Given the description of an element on the screen output the (x, y) to click on. 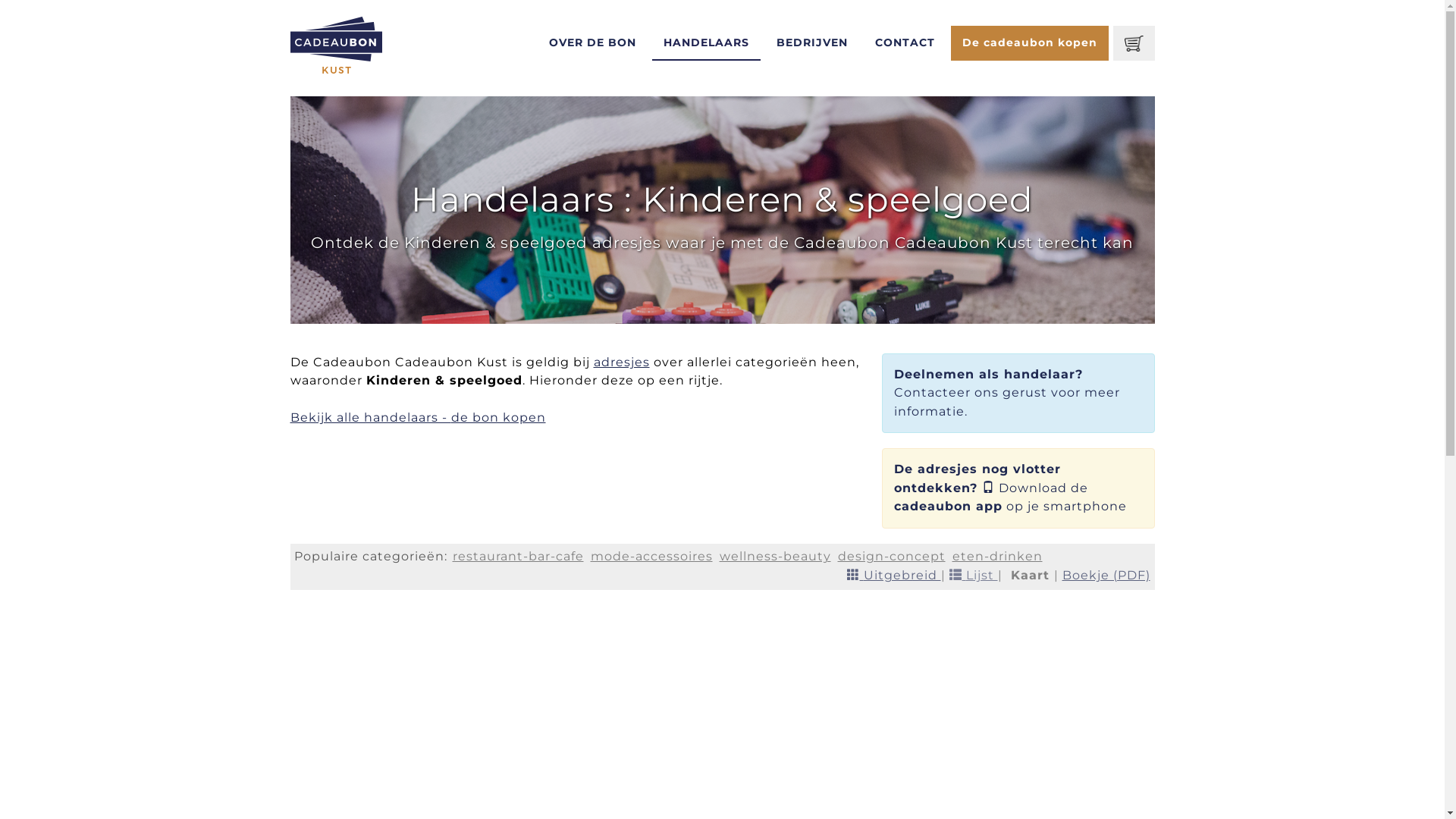
OVER DE BON Element type: text (592, 42)
adresjes Element type: text (621, 361)
BEDRIJVEN Element type: text (812, 42)
Uitgebreid Element type: text (893, 574)
eten-drinken Element type: text (997, 555)
CONTACT Element type: text (904, 42)
HANDELAARS Element type: text (706, 42)
De cadeaubon kopen Element type: text (1029, 42)
de bon kopen Element type: text (497, 417)
design-concept Element type: text (890, 555)
Bekijk alle handelaars - Element type: text (369, 417)
Lijst Element type: text (973, 574)
wellness-beauty Element type: text (774, 555)
mode-accessoires Element type: text (650, 555)
restaurant-bar-cafe Element type: text (517, 555)
Winkelkarretje Element type: hover (1133, 42)
Boekje (PDF) Element type: text (1105, 574)
